Given the description of an element on the screen output the (x, y) to click on. 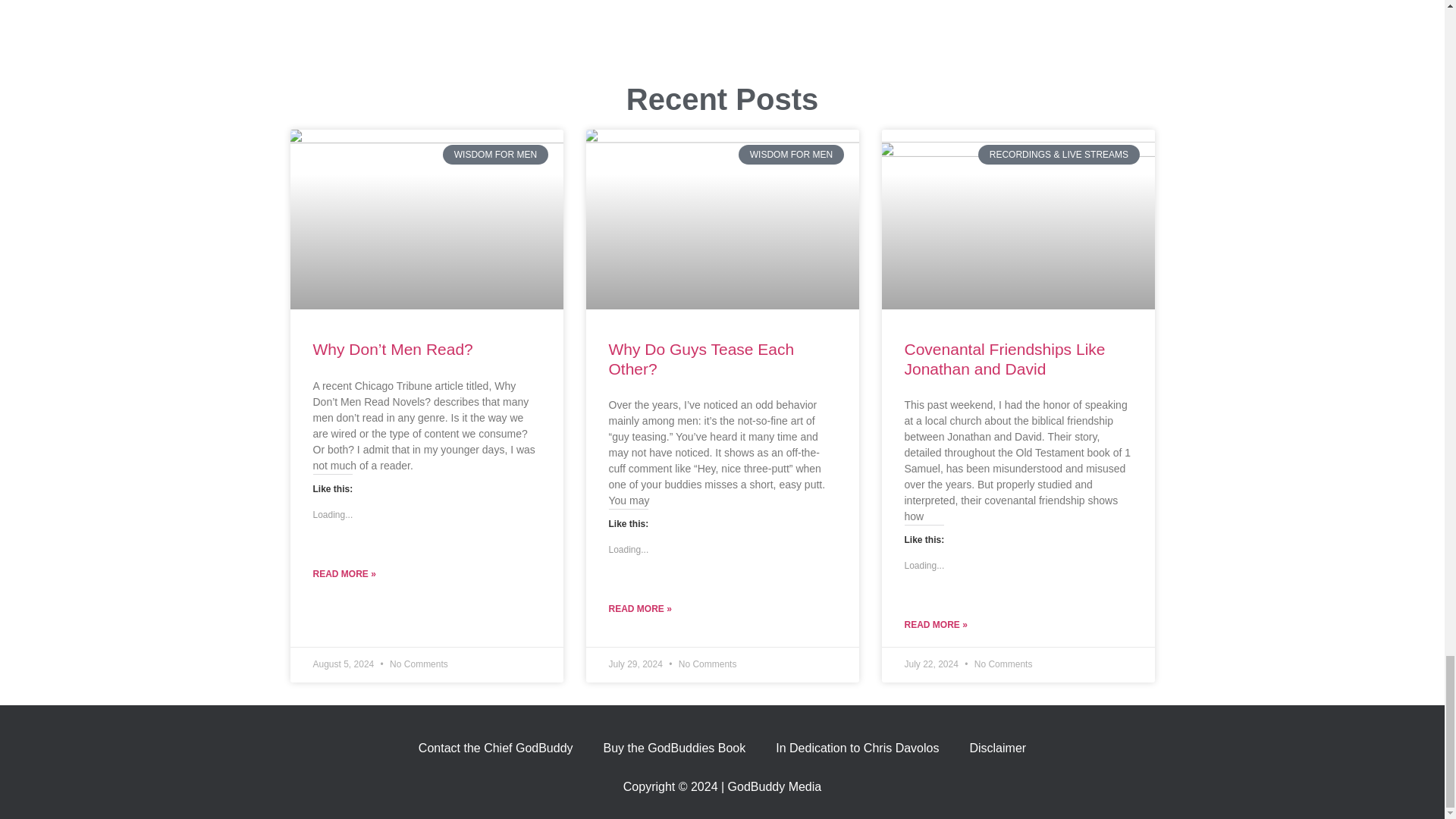
Why Do Guys Tease Each Other? (700, 358)
Comment Form (721, 31)
Buy the GodBuddies Book (674, 748)
Contact the Chief GodBuddy (495, 748)
Covenantal Friendships Like Jonathan and David (1004, 358)
